Given the description of an element on the screen output the (x, y) to click on. 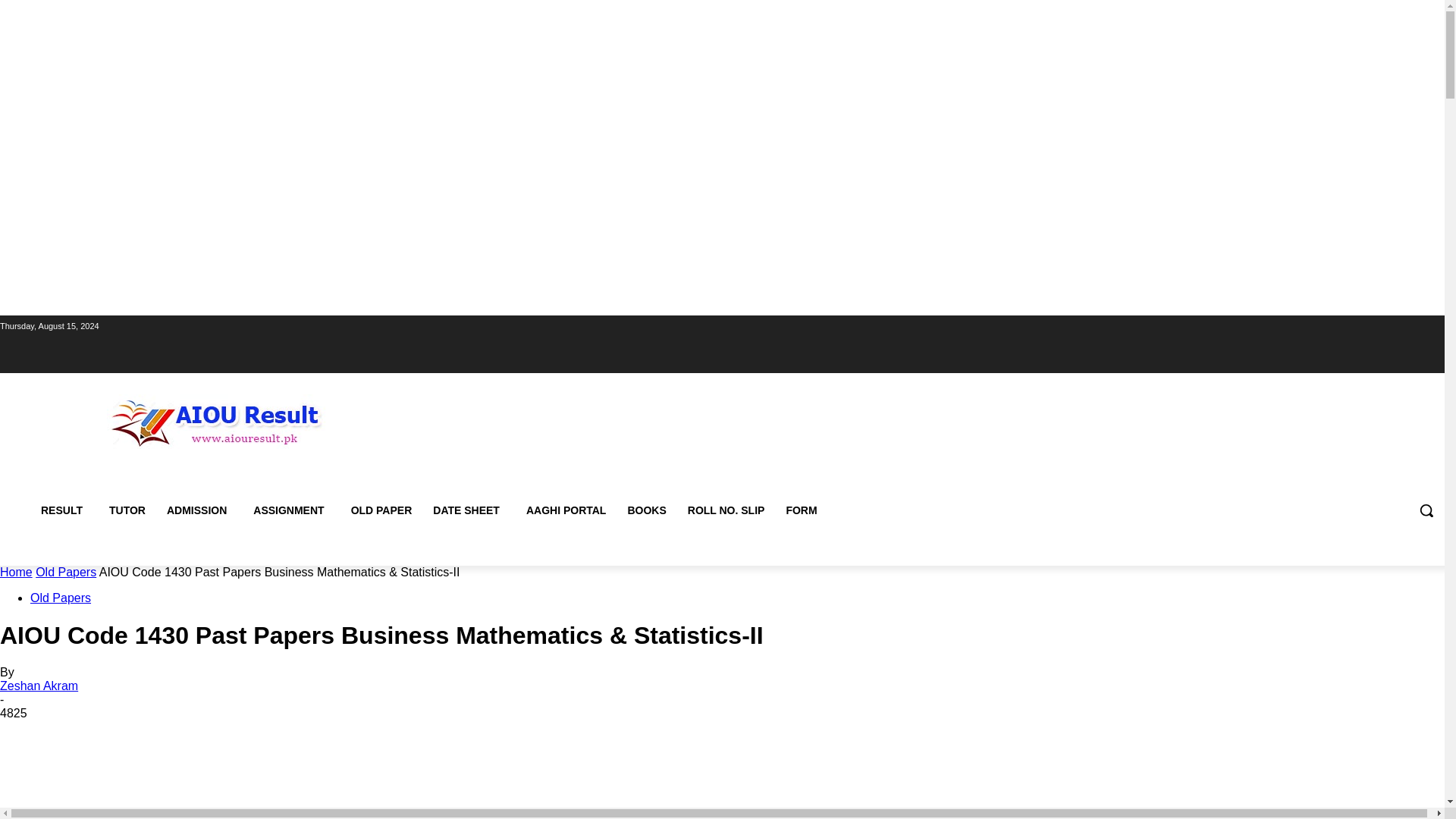
Advertisement (721, 773)
ADMISSION (199, 510)
TUTOR (127, 510)
AIOU Result .pk (216, 420)
OLD PAPER (381, 510)
ASSIGNMENT (291, 510)
View all posts in Old Papers (65, 571)
DATE SHEET (468, 510)
BOOKS (646, 510)
RESULT (64, 510)
